Given the description of an element on the screen output the (x, y) to click on. 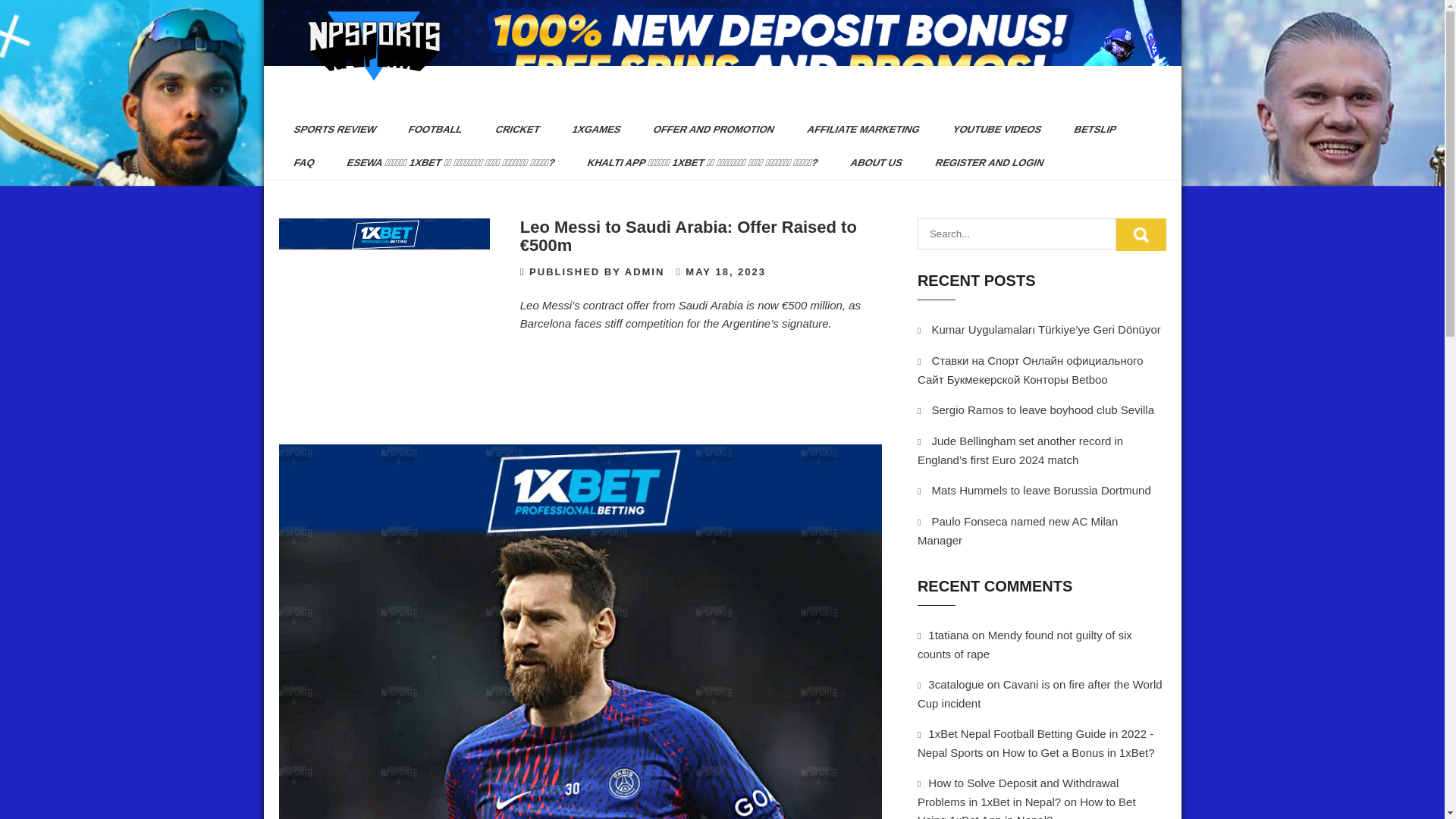
Search (1141, 234)
Mats Hummels to leave Borussia Dortmund (1040, 490)
Sergio Ramos to leave boyhood club Sevilla (1042, 409)
1XGAMES (590, 129)
AFFILIATE MARKETING (857, 129)
Paulo Fonseca named new AC Milan Manager (1017, 531)
OFFER AND PROMOTION (707, 129)
Search (1141, 234)
1tatiana (948, 634)
